Given the description of an element on the screen output the (x, y) to click on. 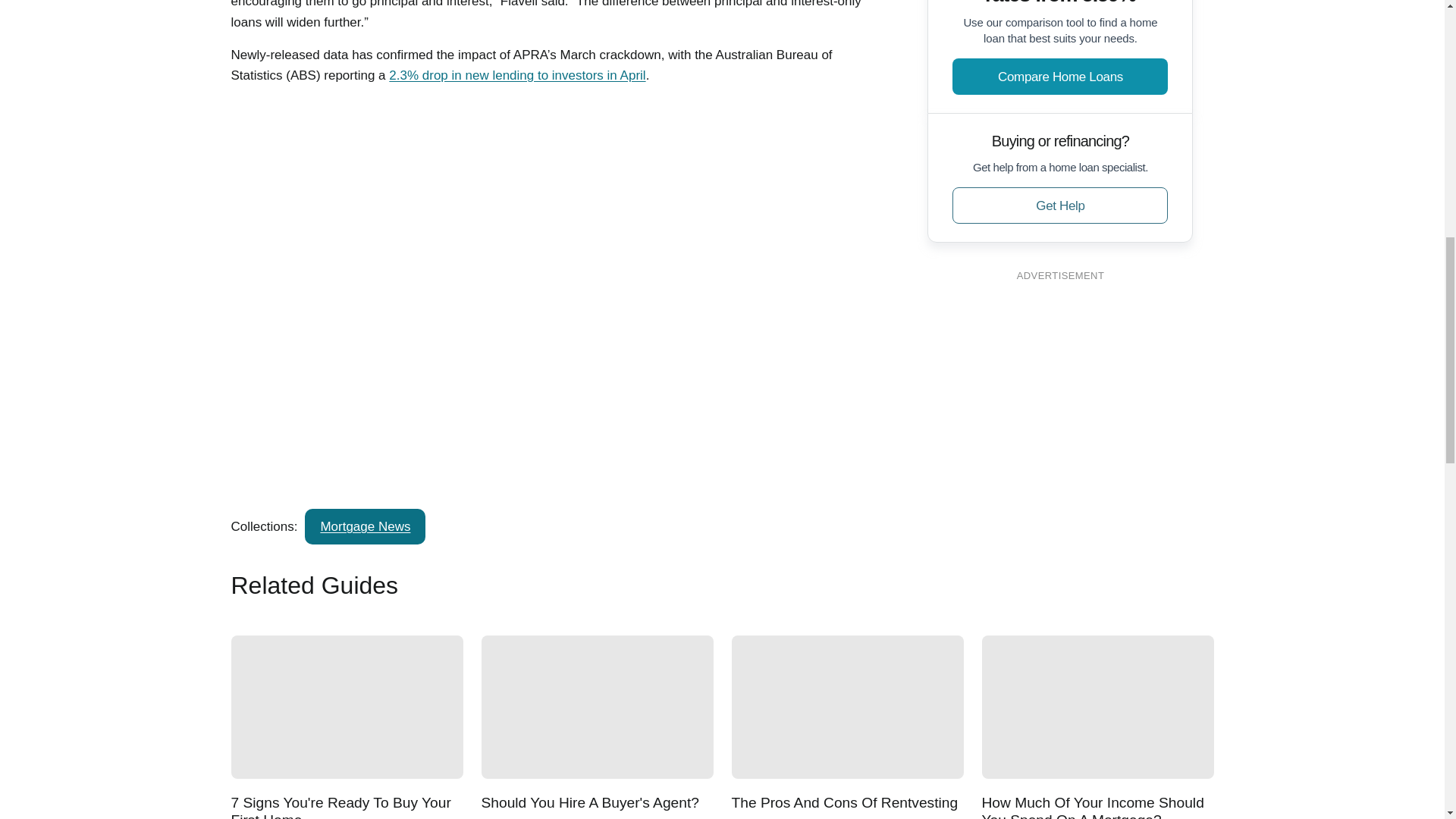
Your Mortgage Enquiry (344, 174)
